Given the description of an element on the screen output the (x, y) to click on. 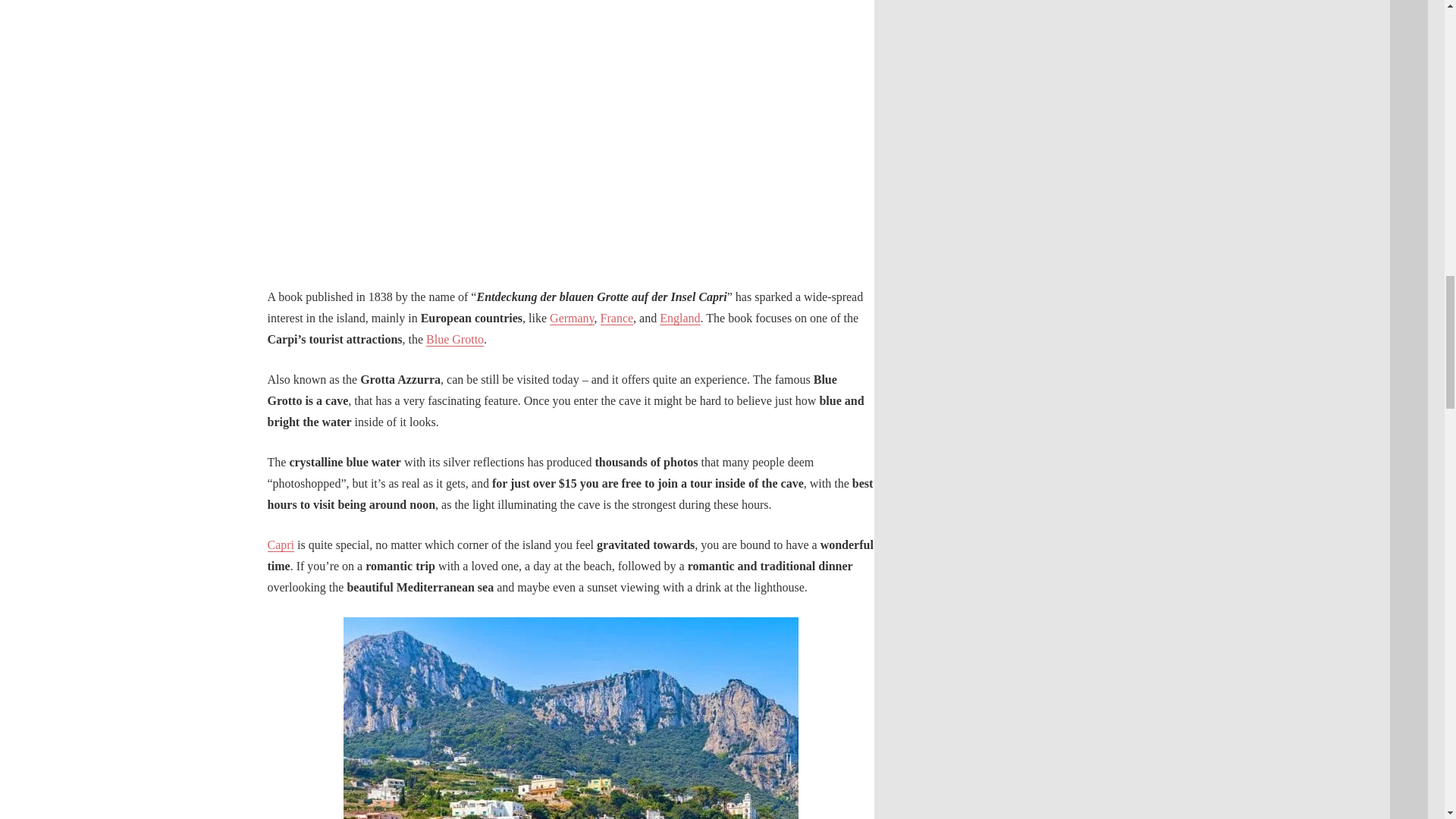
England (679, 318)
Blue Grotto (454, 338)
Germany (572, 318)
France (616, 318)
Capri (280, 544)
